Given the description of an element on the screen output the (x, y) to click on. 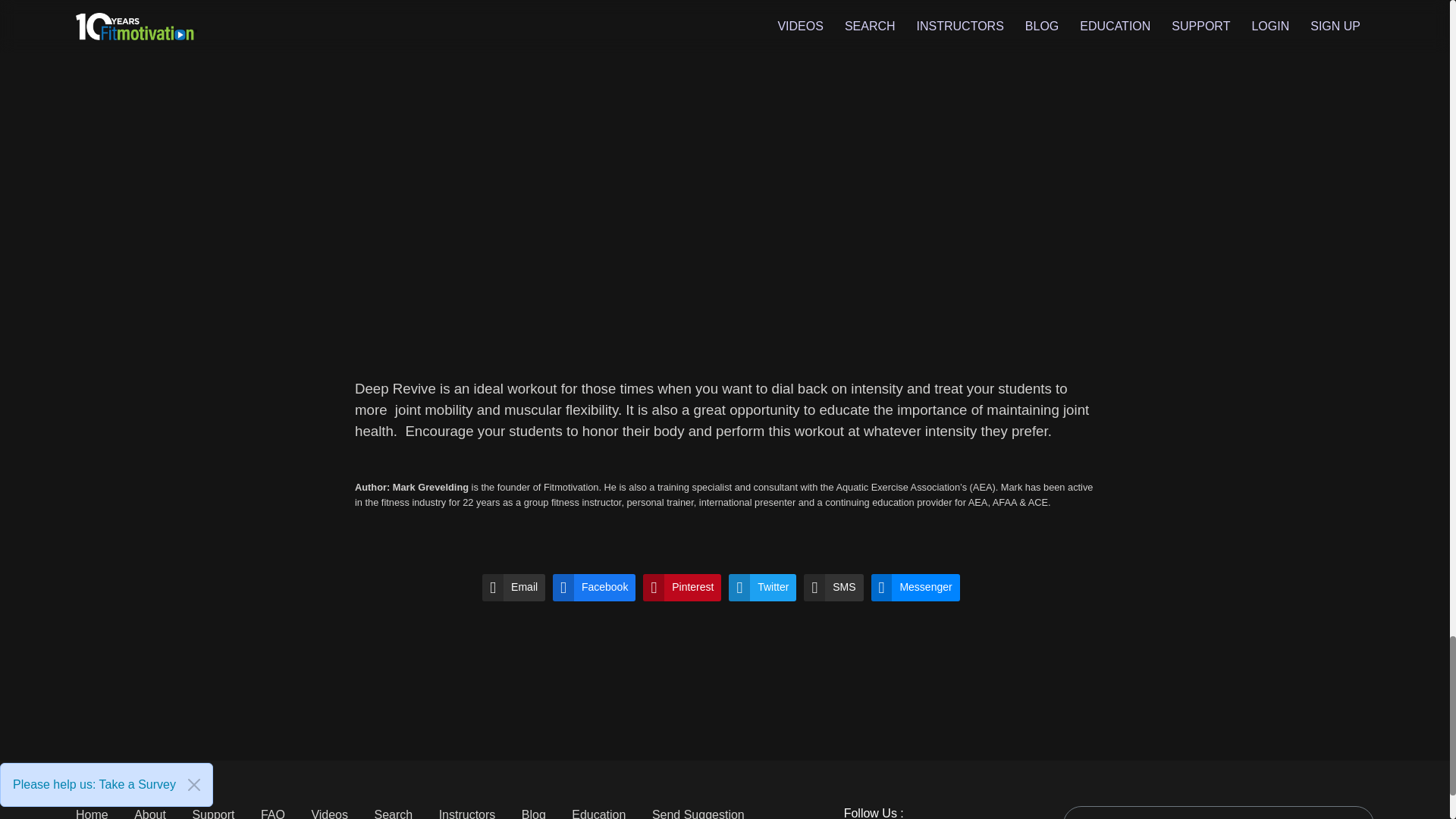
Instructors (467, 813)
Email (512, 587)
Blog (533, 813)
Home (91, 813)
FAQ (272, 813)
Send Suggestion (698, 813)
Support (213, 813)
Search (393, 813)
SMS (833, 587)
Twitter (762, 587)
Messenger (914, 587)
Videos (329, 813)
Pinterest (681, 587)
About (149, 813)
Education (599, 813)
